Given the description of an element on the screen output the (x, y) to click on. 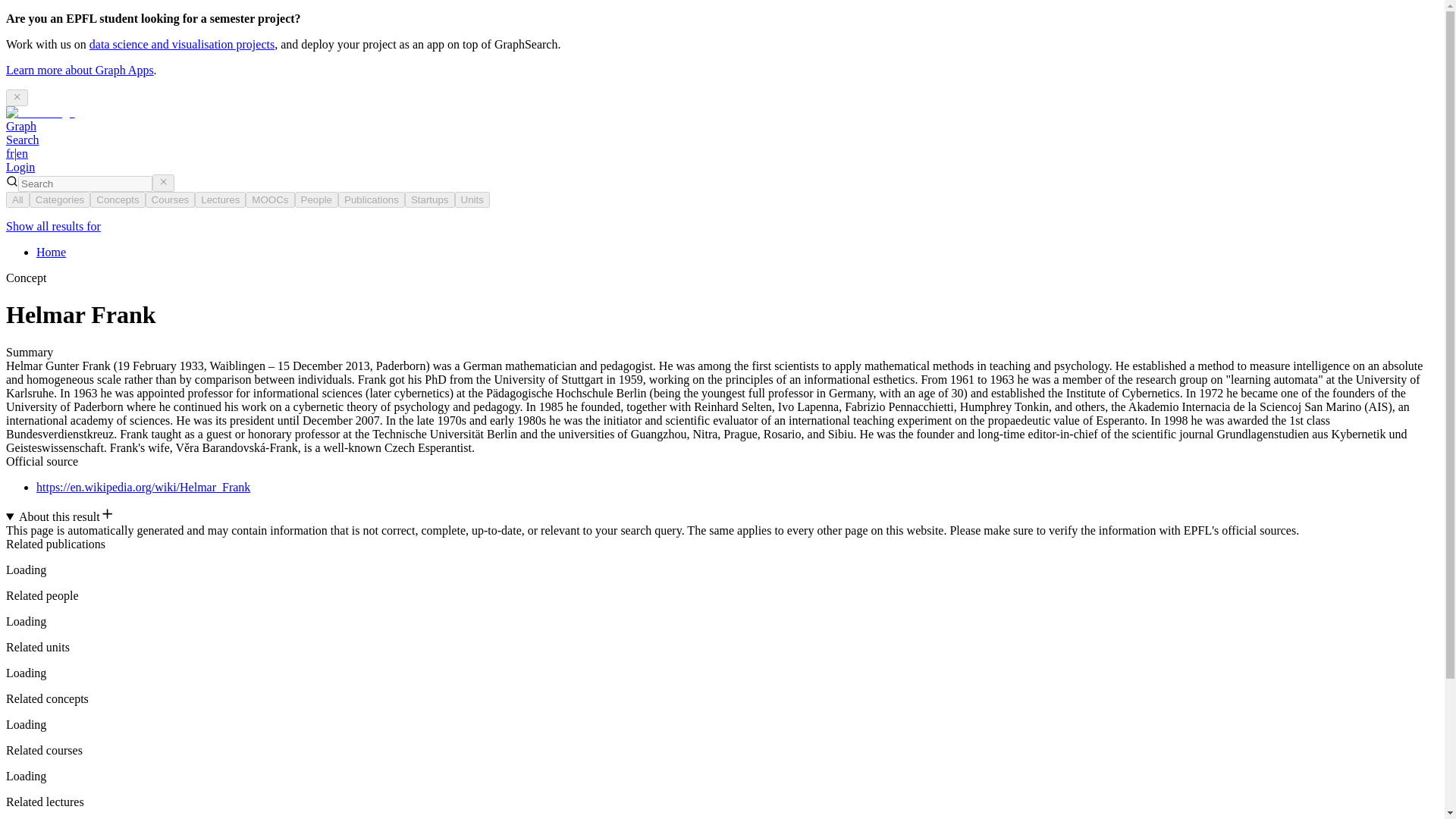
Lectures (220, 199)
Concepts (117, 199)
Home (50, 251)
People (315, 199)
Close notification (16, 97)
data science and visualisation projects (181, 43)
en (21, 153)
Units (471, 199)
Login (19, 166)
Show all results for (52, 226)
Categories (59, 199)
fr (22, 132)
Publications (9, 153)
MOOCs (370, 199)
